Given the description of an element on the screen output the (x, y) to click on. 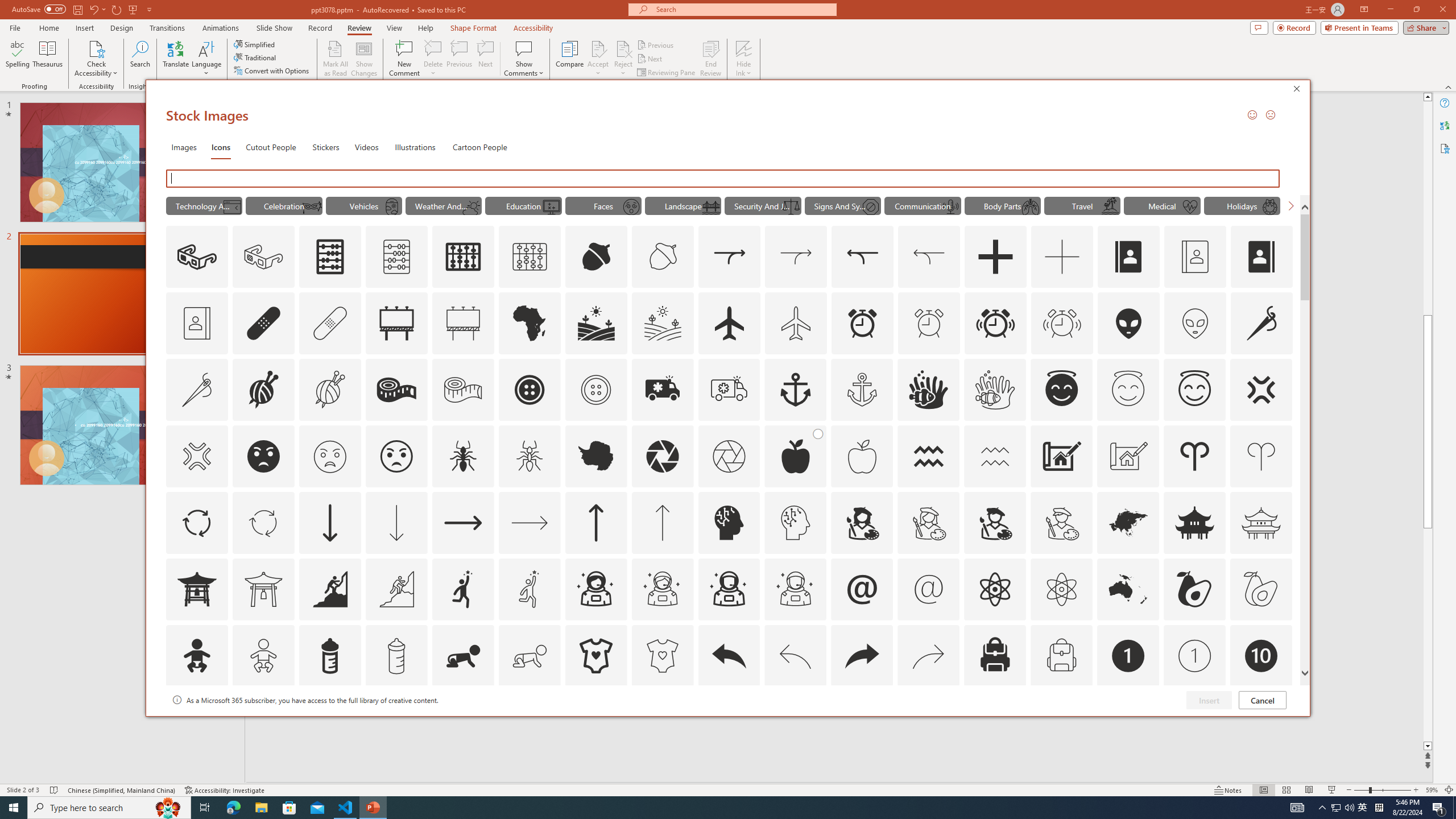
AutomationID: Icons_Antarctica (595, 455)
AutomationID: Icons_Aspiration1_M (529, 588)
AutomationID: Icons_3dGlasses (197, 256)
AutomationID: Icons_Abacus1_M (529, 256)
AutomationID: Icons_At_M (928, 588)
AutomationID: Icons_AnemoneAndClownfish (928, 389)
AutomationID: Icons_AngerSymbol (1260, 389)
AutomationID: Icons_ArtificialIntelligence_M (795, 522)
